Given the description of an element on the screen output the (x, y) to click on. 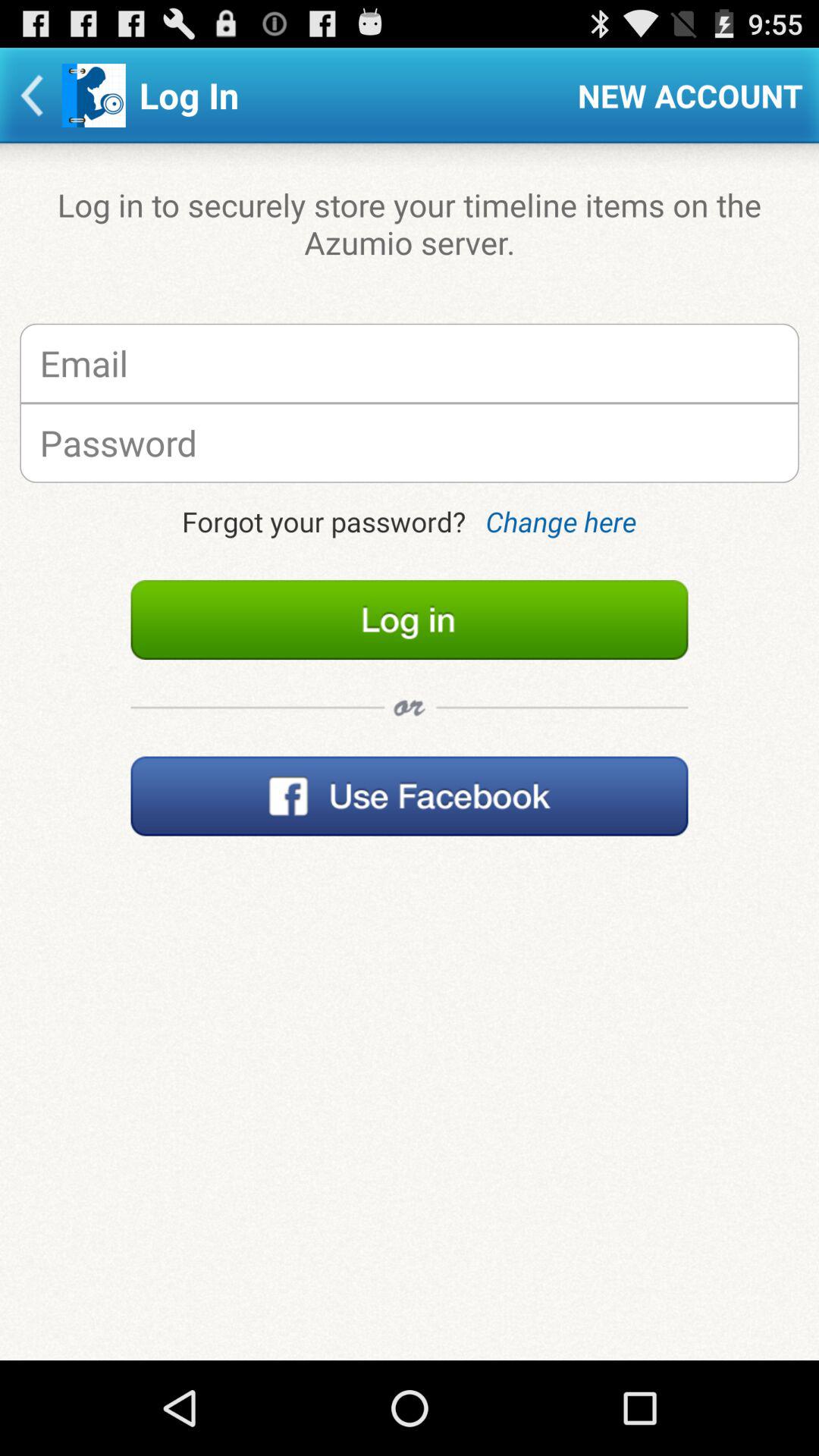
turn on the item above log in to icon (690, 95)
